Given the description of an element on the screen output the (x, y) to click on. 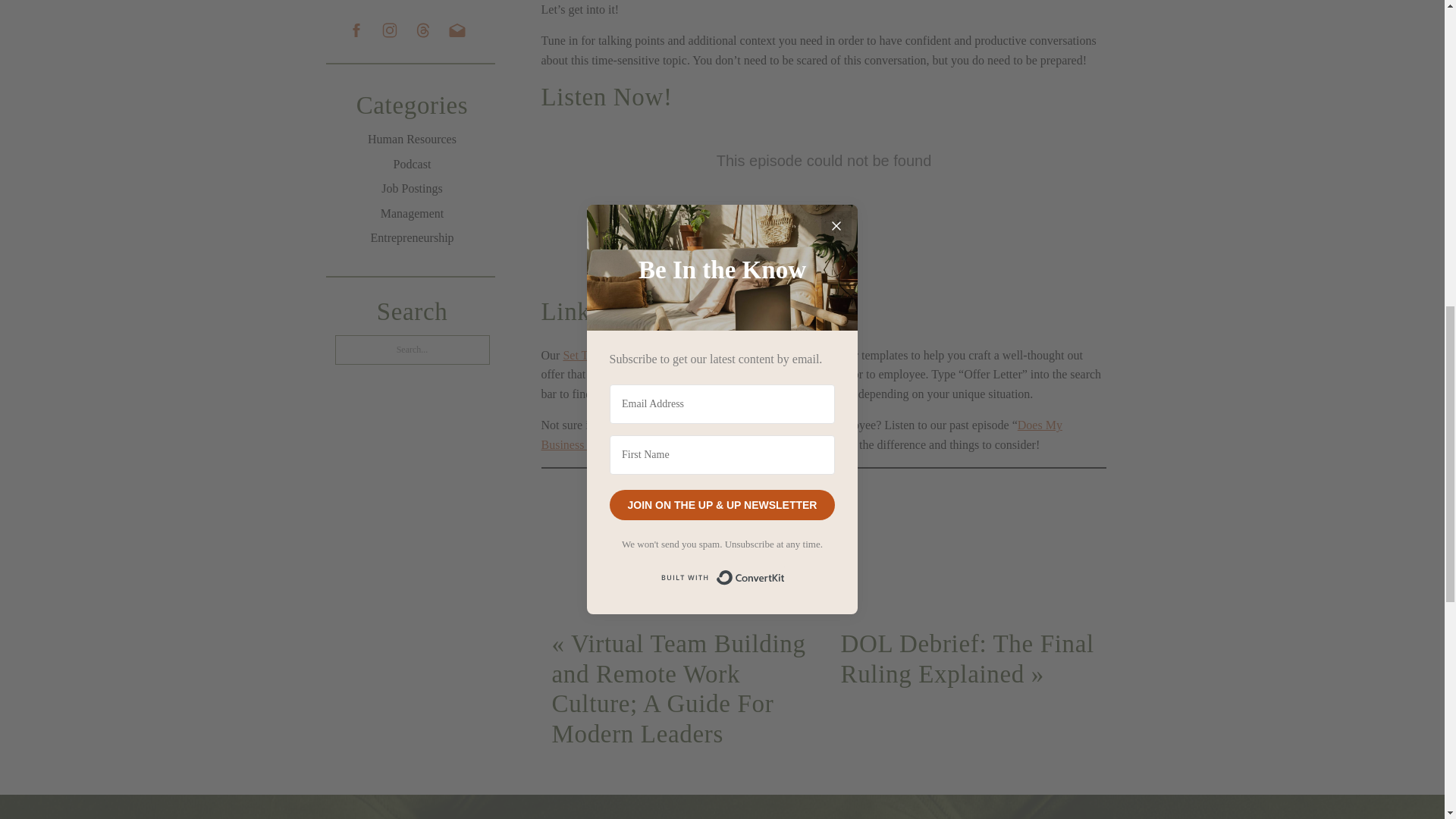
Podcast (412, 165)
Management (412, 214)
Entrepreneurship (412, 238)
DOL Debrief: The Final Ruling Explained (966, 658)
Human Resources (412, 139)
Job Postings (412, 189)
Set To Scale Template Shop (630, 354)
